Given the description of an element on the screen output the (x, y) to click on. 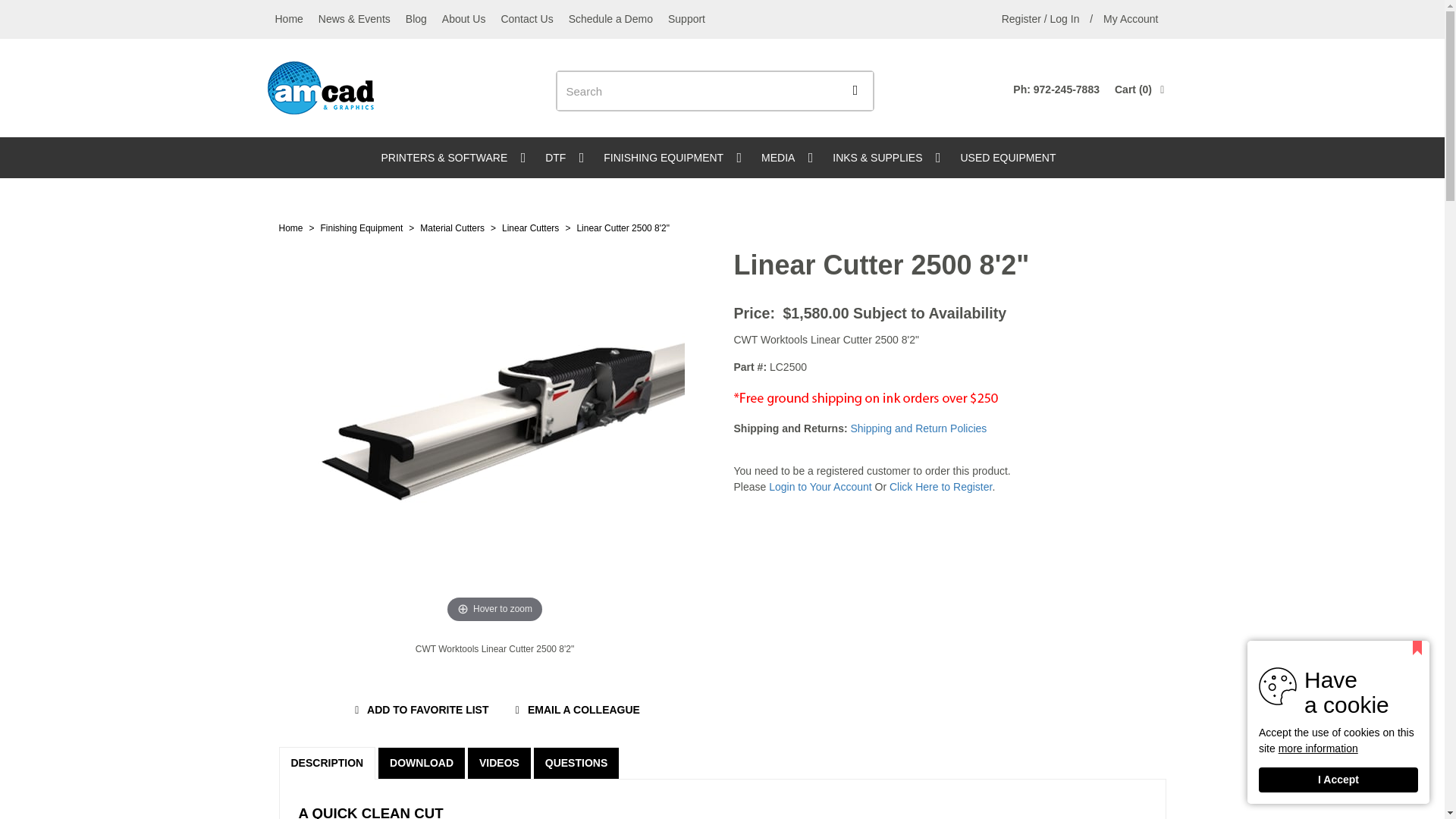
Blog (415, 18)
Contact Us (526, 18)
Home (288, 18)
CWT Worktools Linear Cutter 2500 8'2"  (495, 648)
Schedule a Demo (610, 18)
Support (687, 18)
About Us (1131, 18)
